Given the description of an element on the screen output the (x, y) to click on. 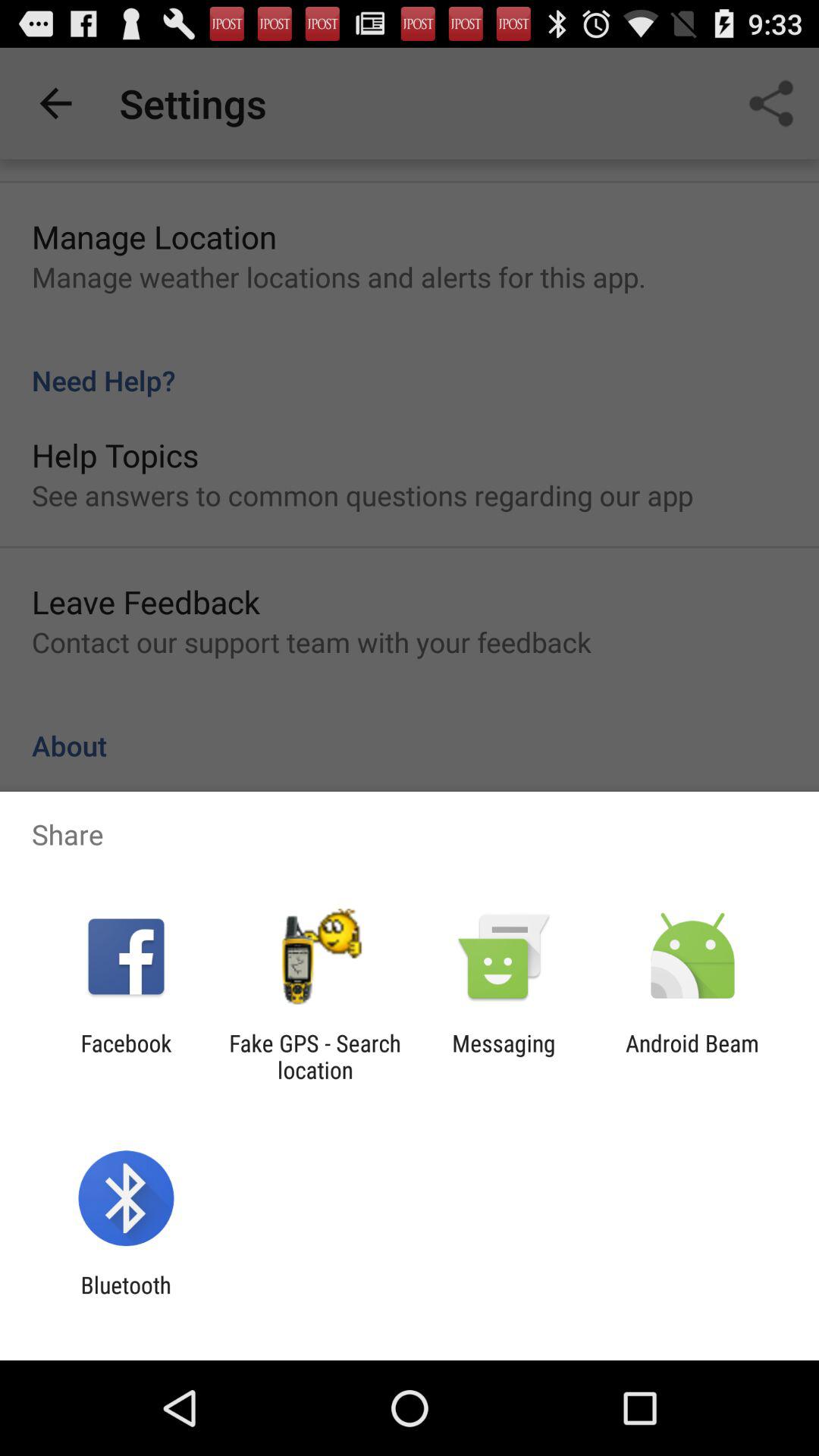
click the icon to the left of the fake gps search (125, 1056)
